Given the description of an element on the screen output the (x, y) to click on. 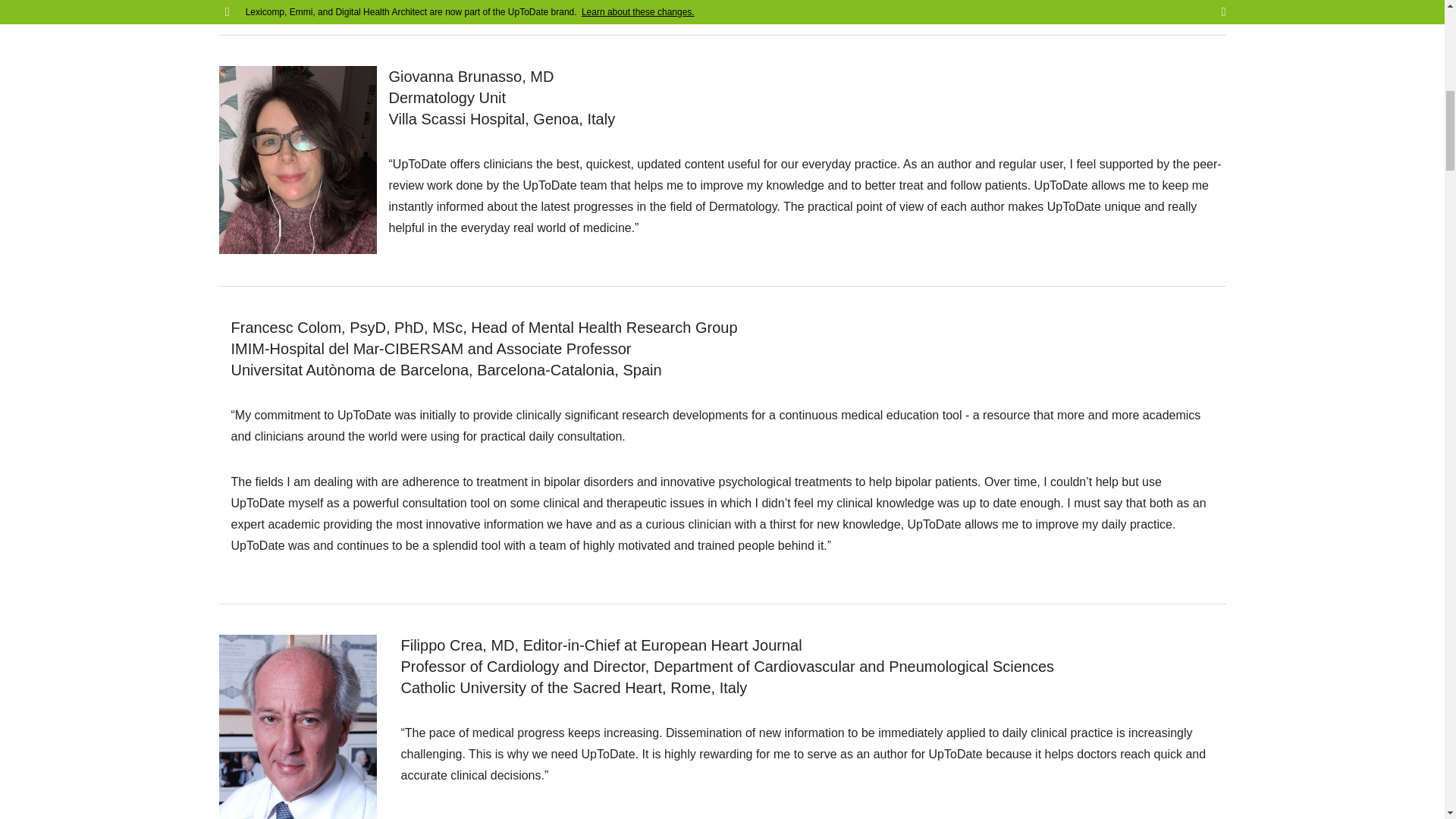
image-author-boyer (296, 6)
